Given the description of an element on the screen output the (x, y) to click on. 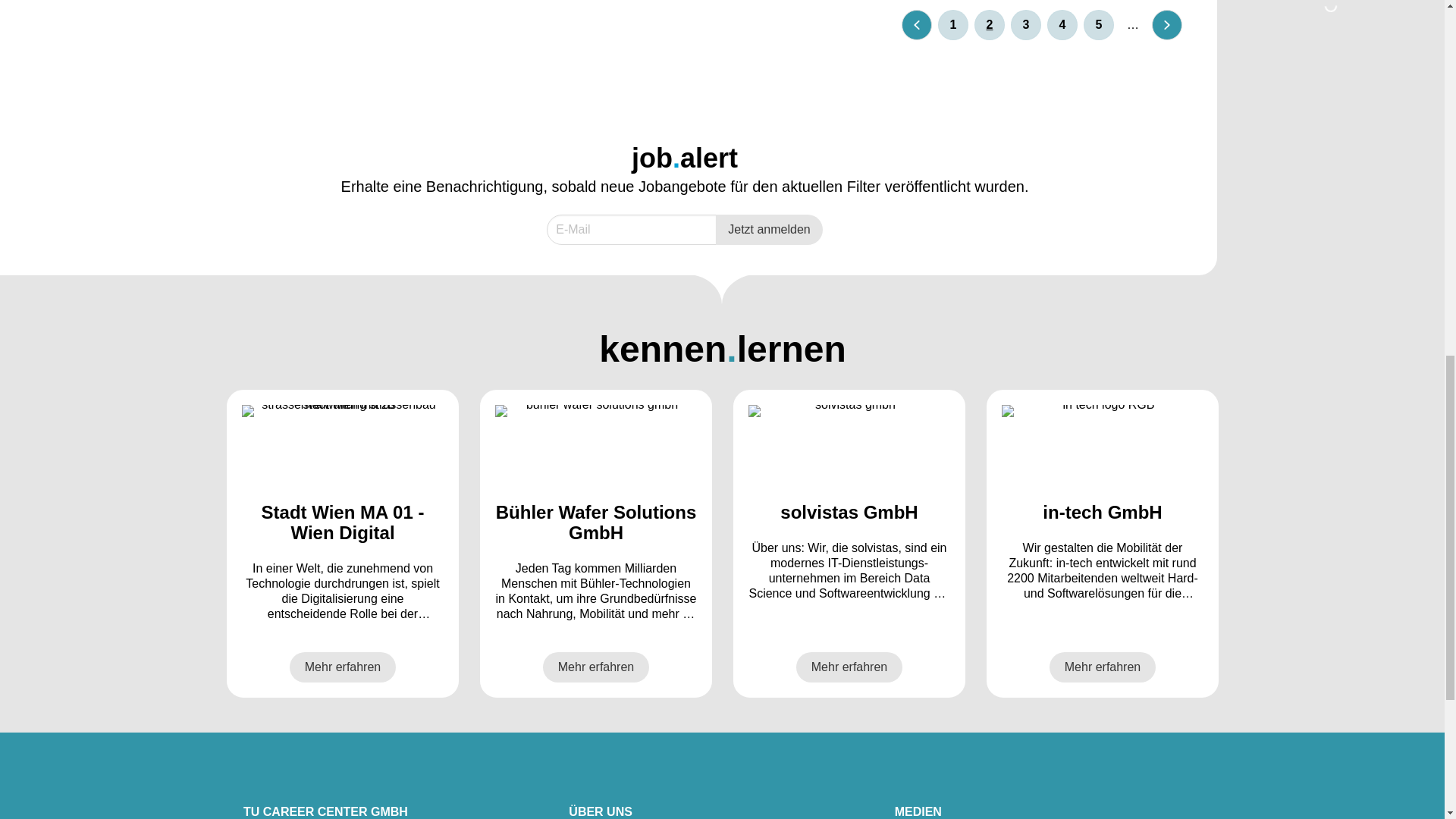
Zur vorherigen Seite (916, 24)
Gehe zu Seite 5 (1098, 24)
Gehe zu Seite 1 (952, 24)
Gehe zu Seite 2 (989, 24)
Gehe zu Seite 3 (1025, 24)
Gehe zu Seite 4 (1061, 24)
